Given the description of an element on the screen output the (x, y) to click on. 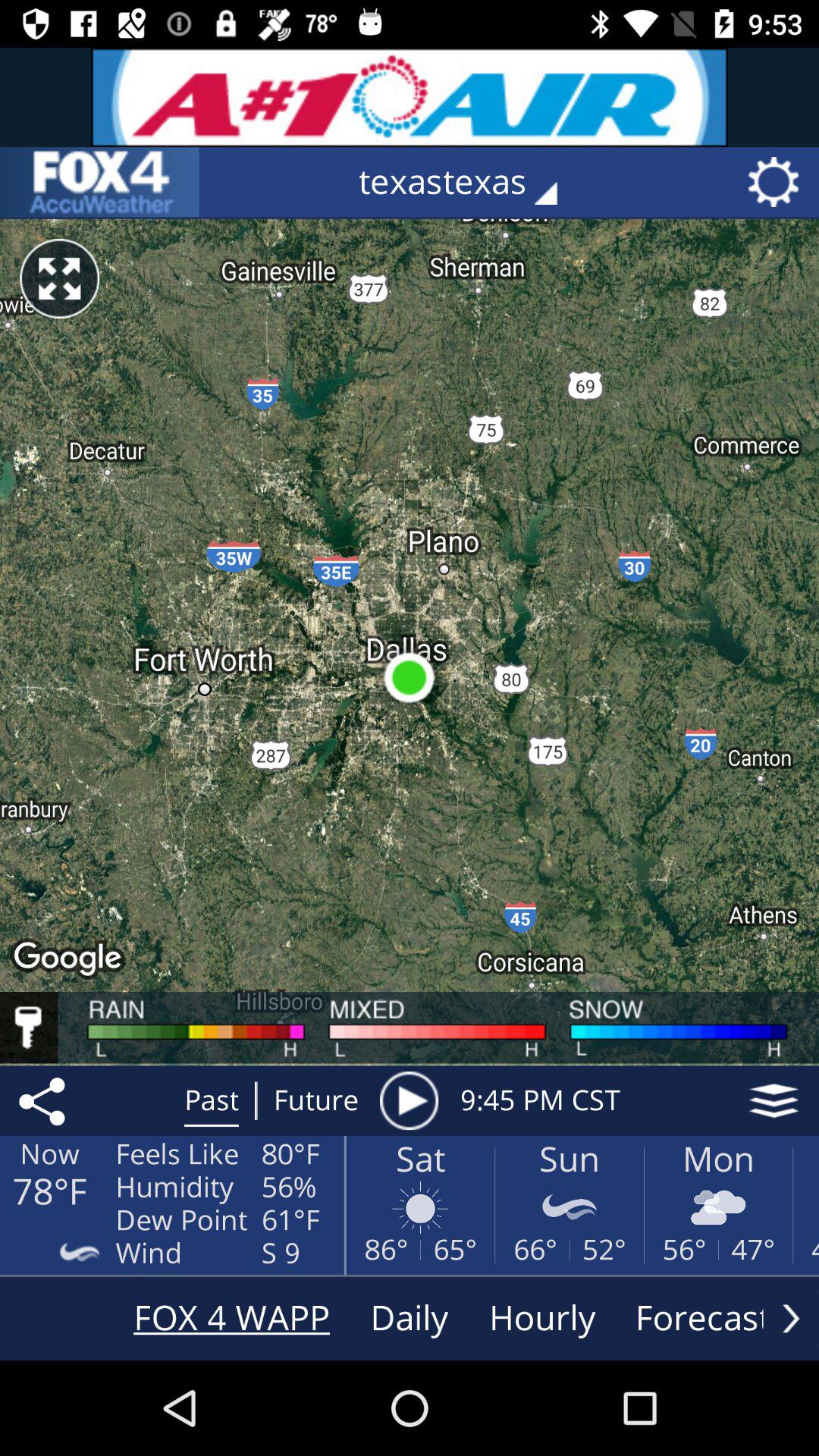
home page tab (99, 182)
